Given the description of an element on the screen output the (x, y) to click on. 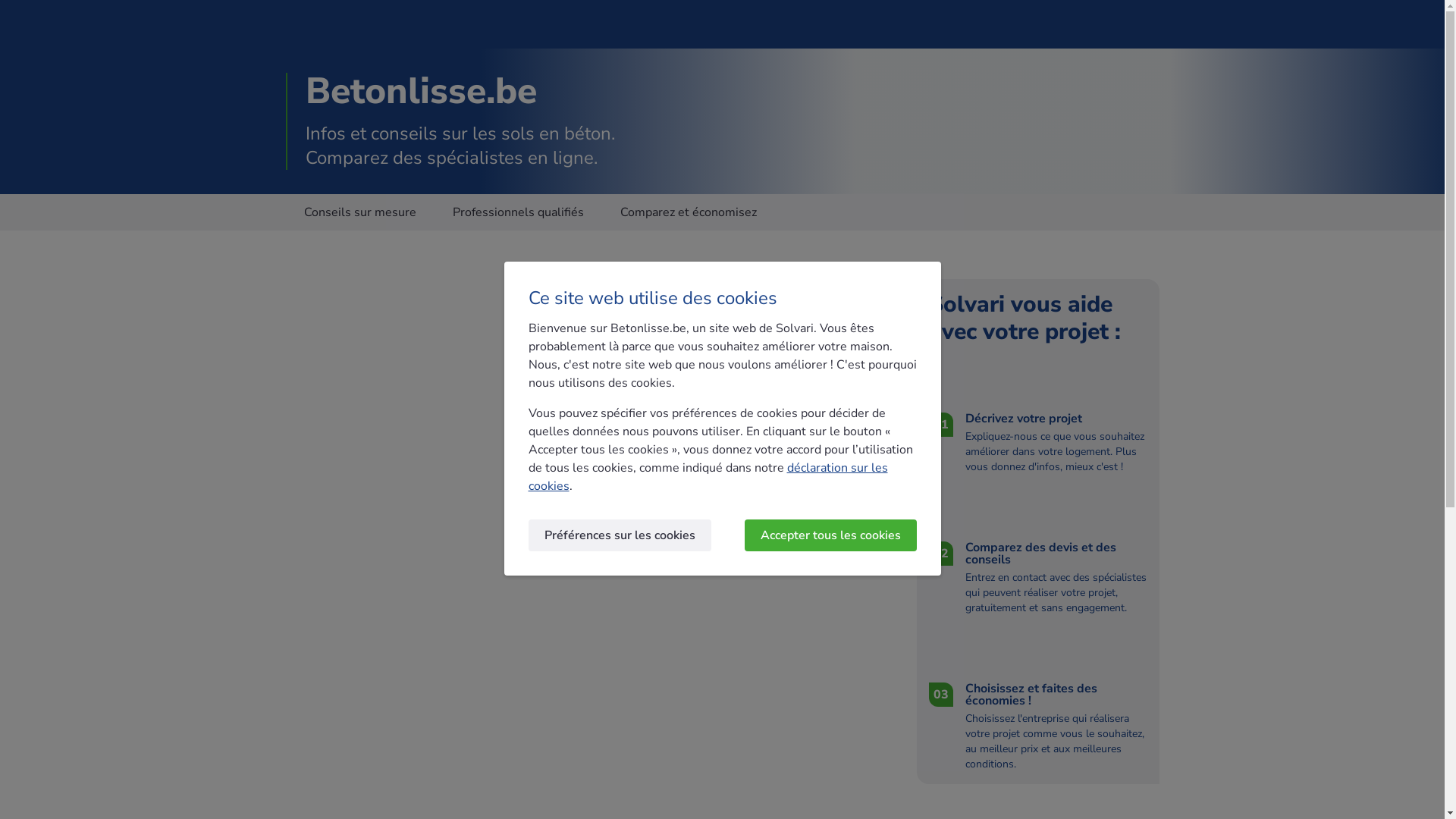
Accepter tous les cookies Element type: text (830, 535)
